Given the description of an element on the screen output the (x, y) to click on. 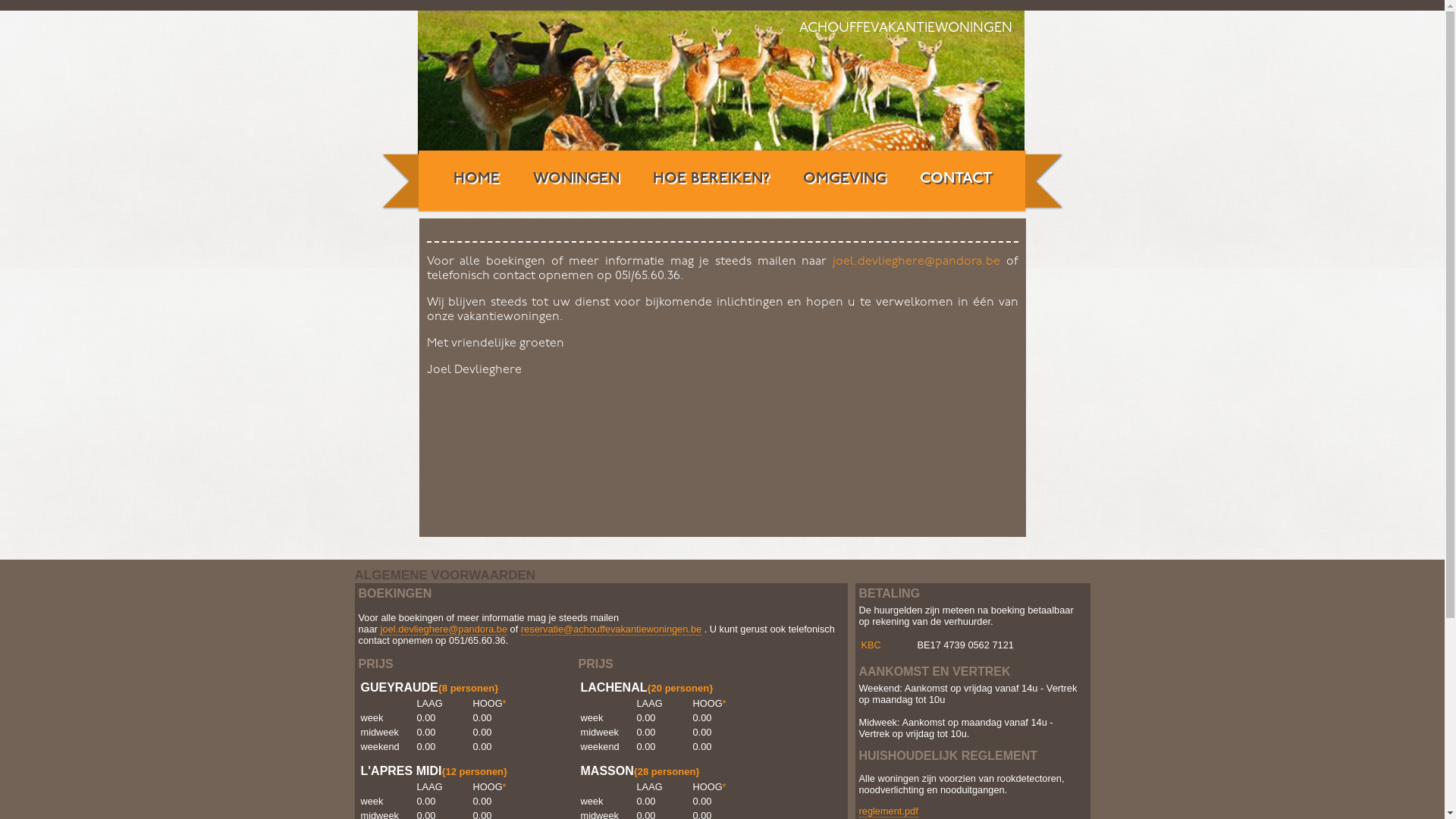
reglement.pdf Element type: text (887, 811)
joel.devlieghere@pandora.be Element type: text (443, 629)
HOE BEREIKEN? Element type: text (710, 178)
reservatie@achouffevakantiewoningen.be Element type: text (610, 629)
WONINGEN Element type: text (575, 178)
CONTACT Element type: text (955, 178)
HOME Element type: text (476, 178)
OMGEVING Element type: text (843, 178)
joel.devlieghere@pandora.be Element type: text (916, 261)
